Given the description of an element on the screen output the (x, y) to click on. 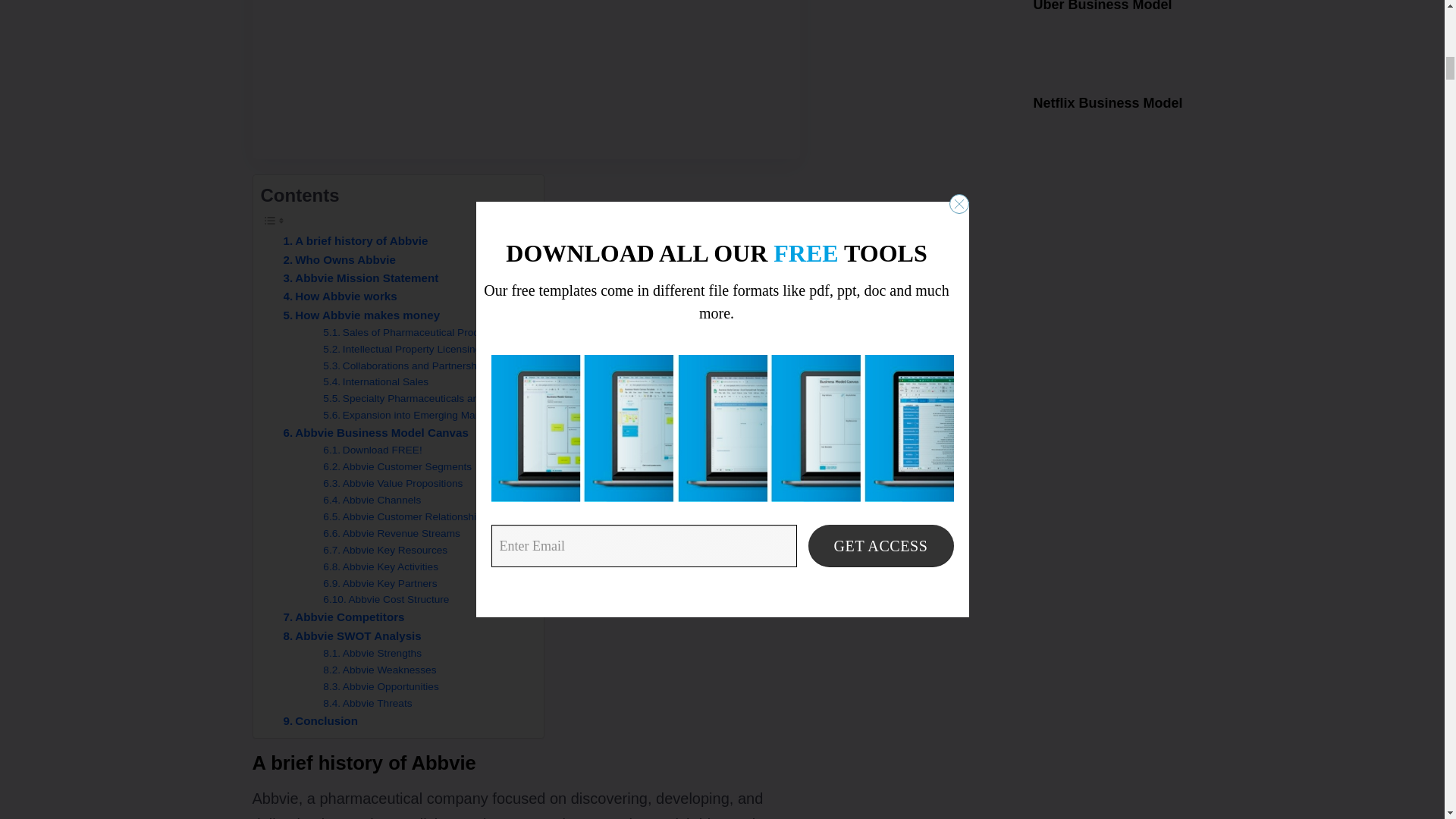
International Sales (375, 381)
How Abbvie works (340, 296)
Sales of Pharmaceutical Products (410, 332)
Download FREE! (372, 450)
Abbvie Mission Statement (361, 278)
Abbvie Business Model Canvas (375, 433)
Collaborations and Partnerships (406, 365)
Expansion into Emerging Markets (410, 415)
Intellectual Property Licensing (401, 349)
A brief history of Abbvie (355, 240)
Abbvie Customer Segments (397, 466)
Who Owns Abbvie (339, 259)
A brief history of Abbvie (355, 240)
How Abbvie makes money (362, 315)
Specialty Pharmaceuticals and Biologics (425, 398)
